Given the description of an element on the screen output the (x, y) to click on. 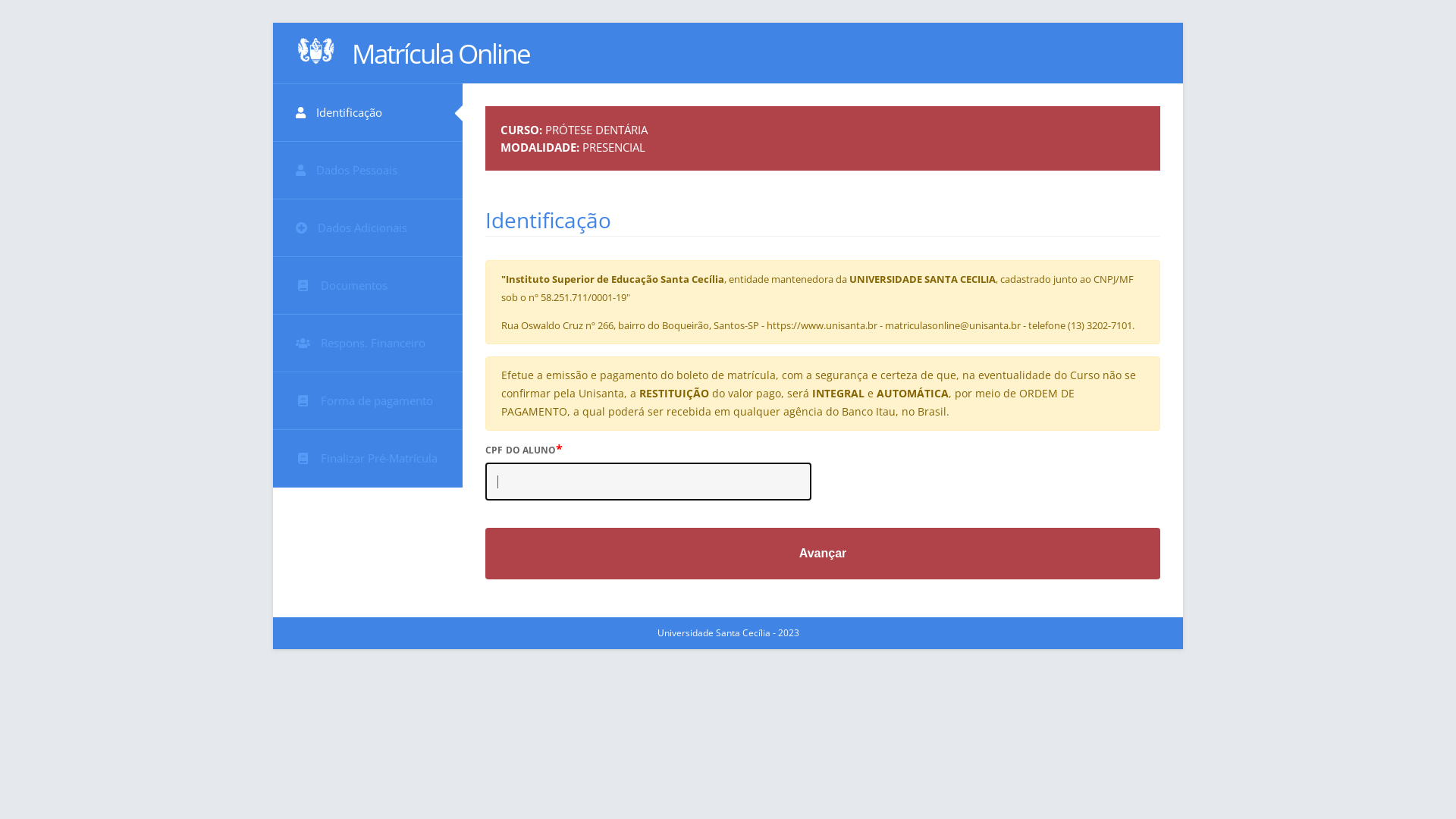
Dados Pessoais Element type: text (367, 170)
Dados Adicionais Element type: text (367, 228)
Respons. Financeiro Element type: text (367, 343)
Documentos Element type: text (367, 285)
Forma de pagamento Element type: text (367, 400)
